Given the description of an element on the screen output the (x, y) to click on. 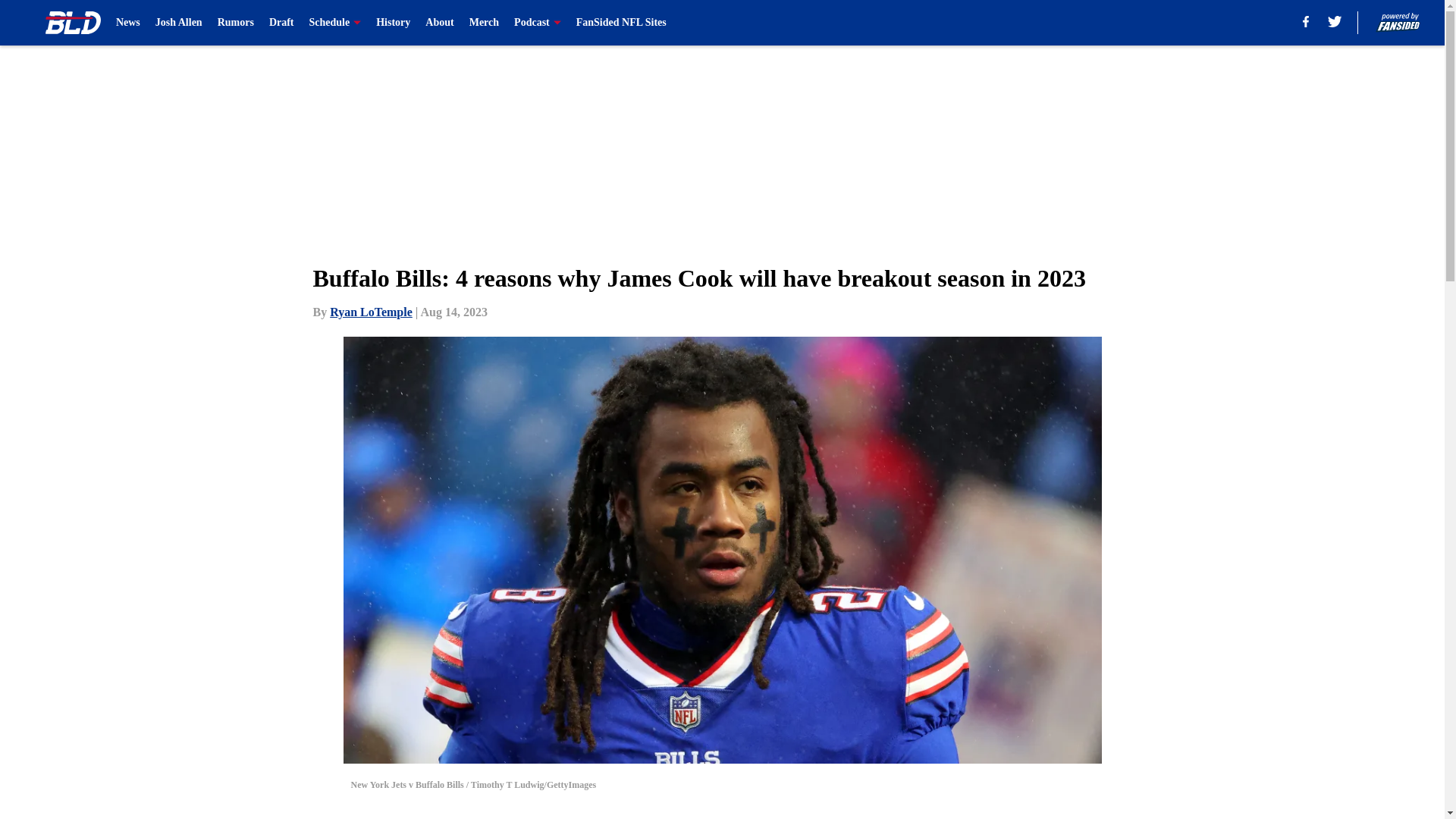
History (392, 22)
Merch (483, 22)
Ryan LoTemple (371, 311)
News (127, 22)
Rumors (234, 22)
About (438, 22)
Josh Allen (178, 22)
Draft (281, 22)
FanSided NFL Sites (621, 22)
